Given the description of an element on the screen output the (x, y) to click on. 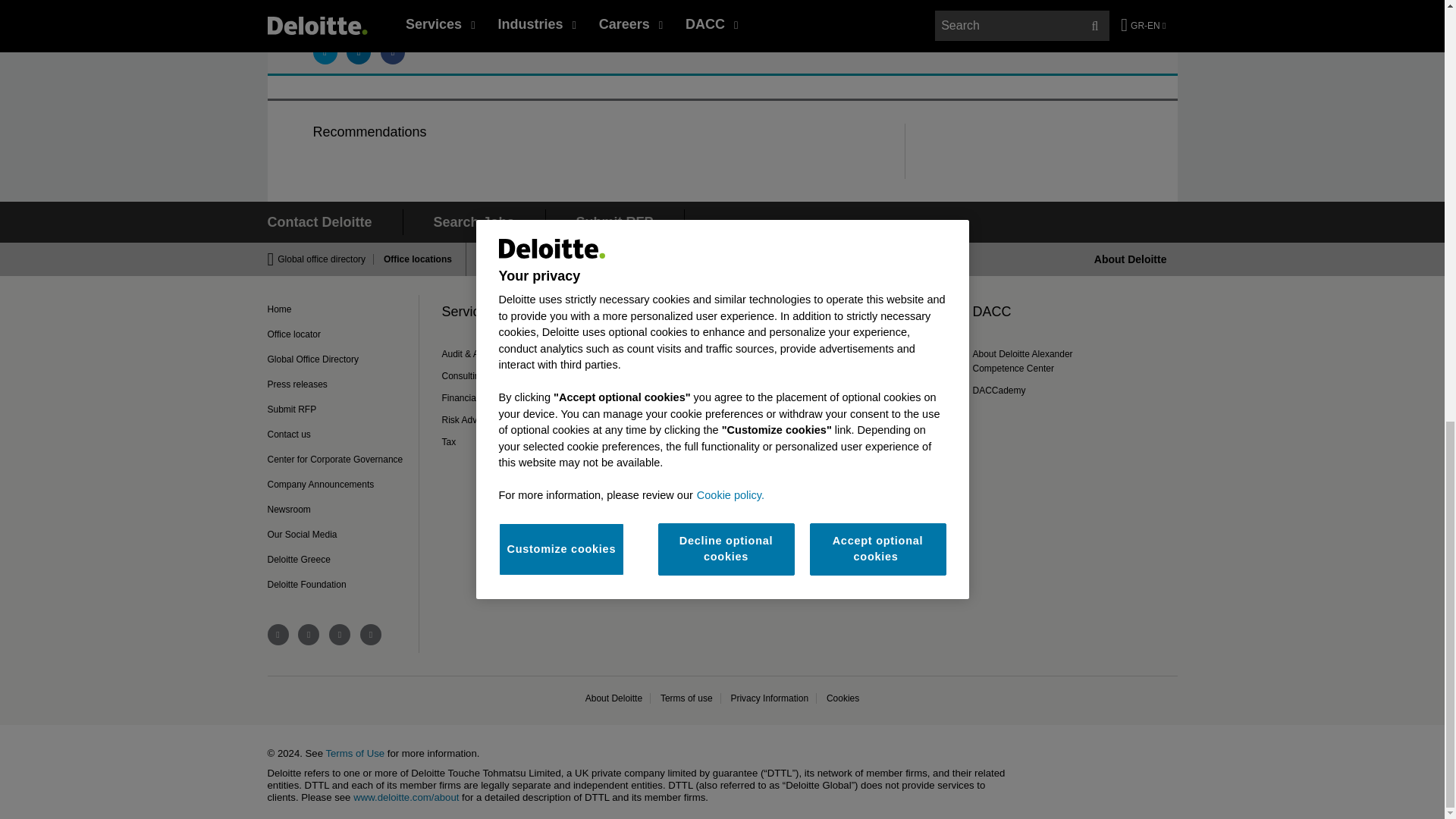
youtube (339, 634)
Share via... (392, 52)
facebook (277, 634)
Office locations (413, 258)
instagram (370, 634)
Global office directory (326, 258)
About Deloitte (1130, 259)
Share via... (358, 52)
linkedin (308, 634)
Share via... (324, 52)
